Given the description of an element on the screen output the (x, y) to click on. 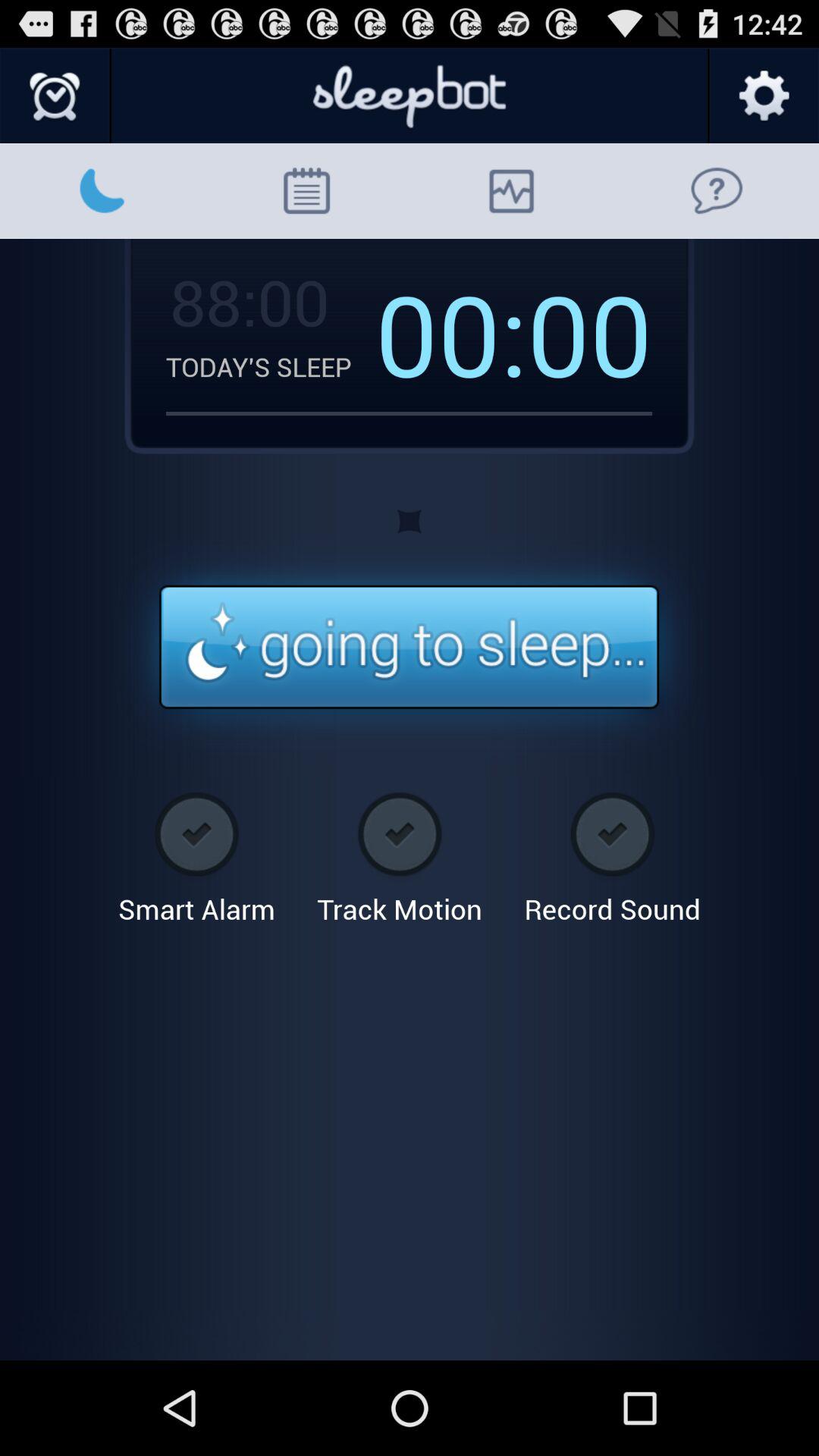
open settings tool (763, 96)
